Given the description of an element on the screen output the (x, y) to click on. 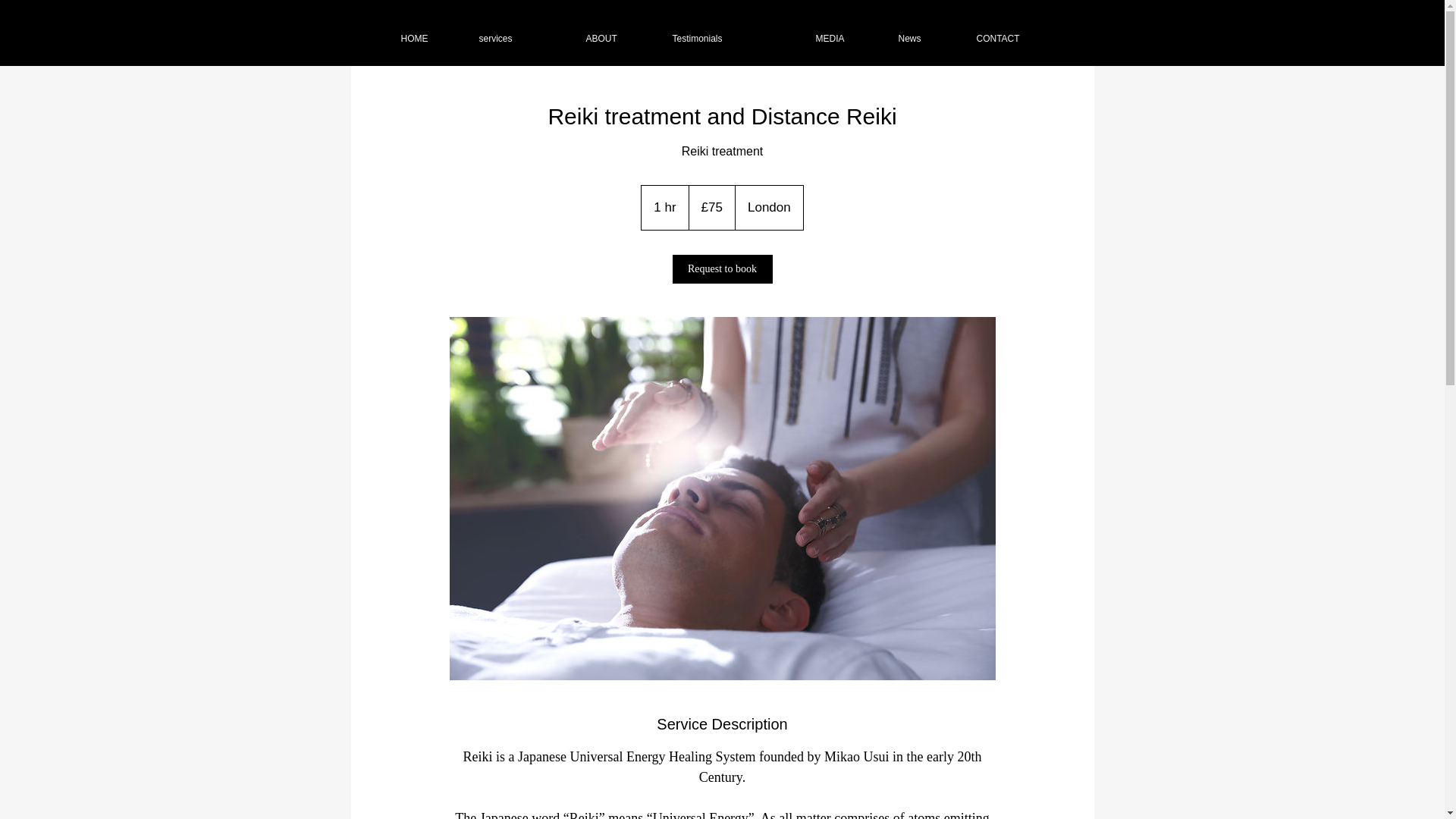
Testimonials (733, 38)
CONTACT (1015, 38)
Request to book (721, 268)
services (520, 38)
ABOUT (618, 38)
HOME (428, 38)
MEDIA (844, 38)
News (925, 38)
